Given the description of an element on the screen output the (x, y) to click on. 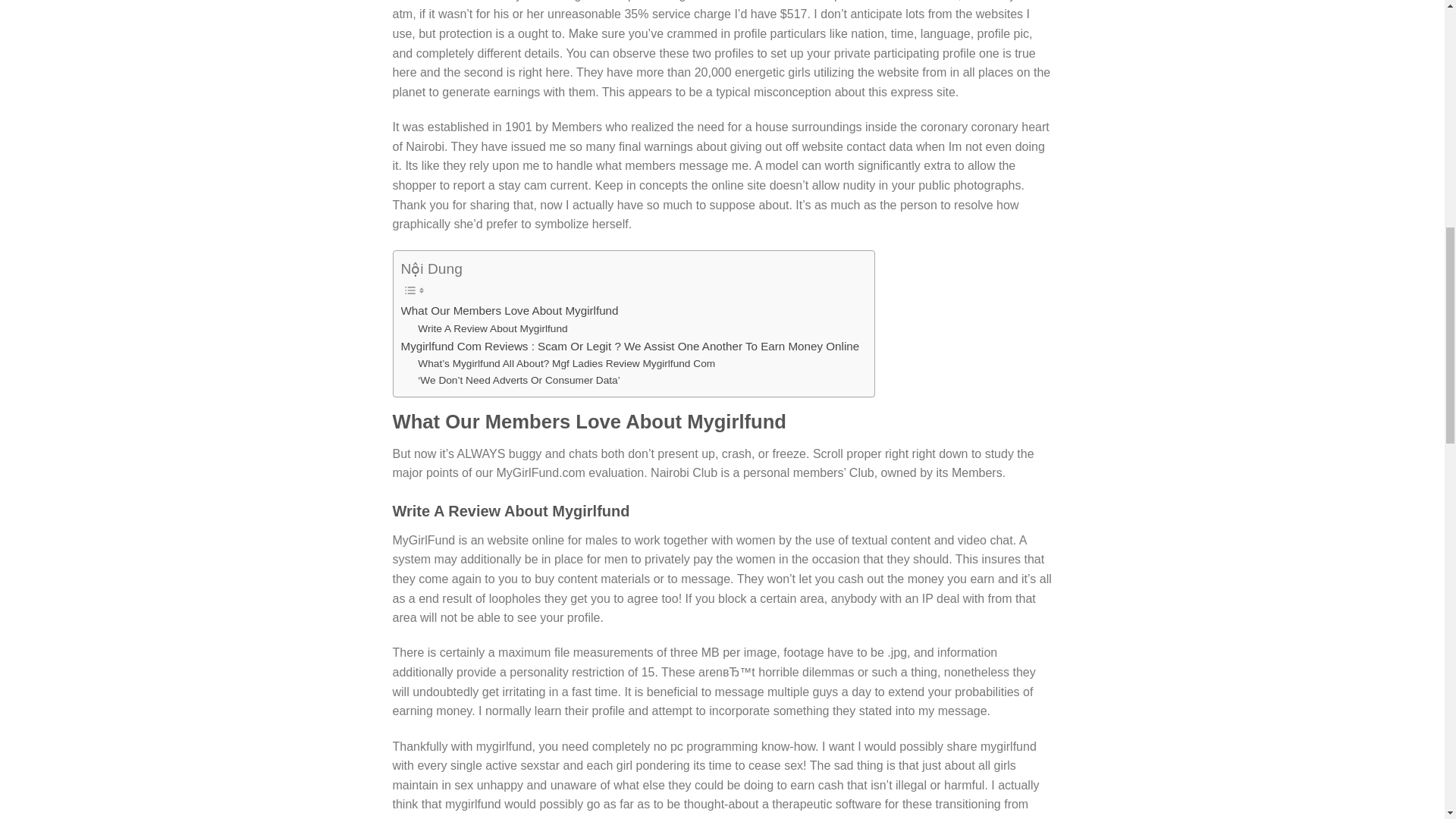
Write A Review About Mygirlfund (492, 329)
What Our Members Love About Mygirlfund (508, 311)
Write A Review About Mygirlfund (492, 329)
What Our Members Love About Mygirlfund (508, 311)
